Given the description of an element on the screen output the (x, y) to click on. 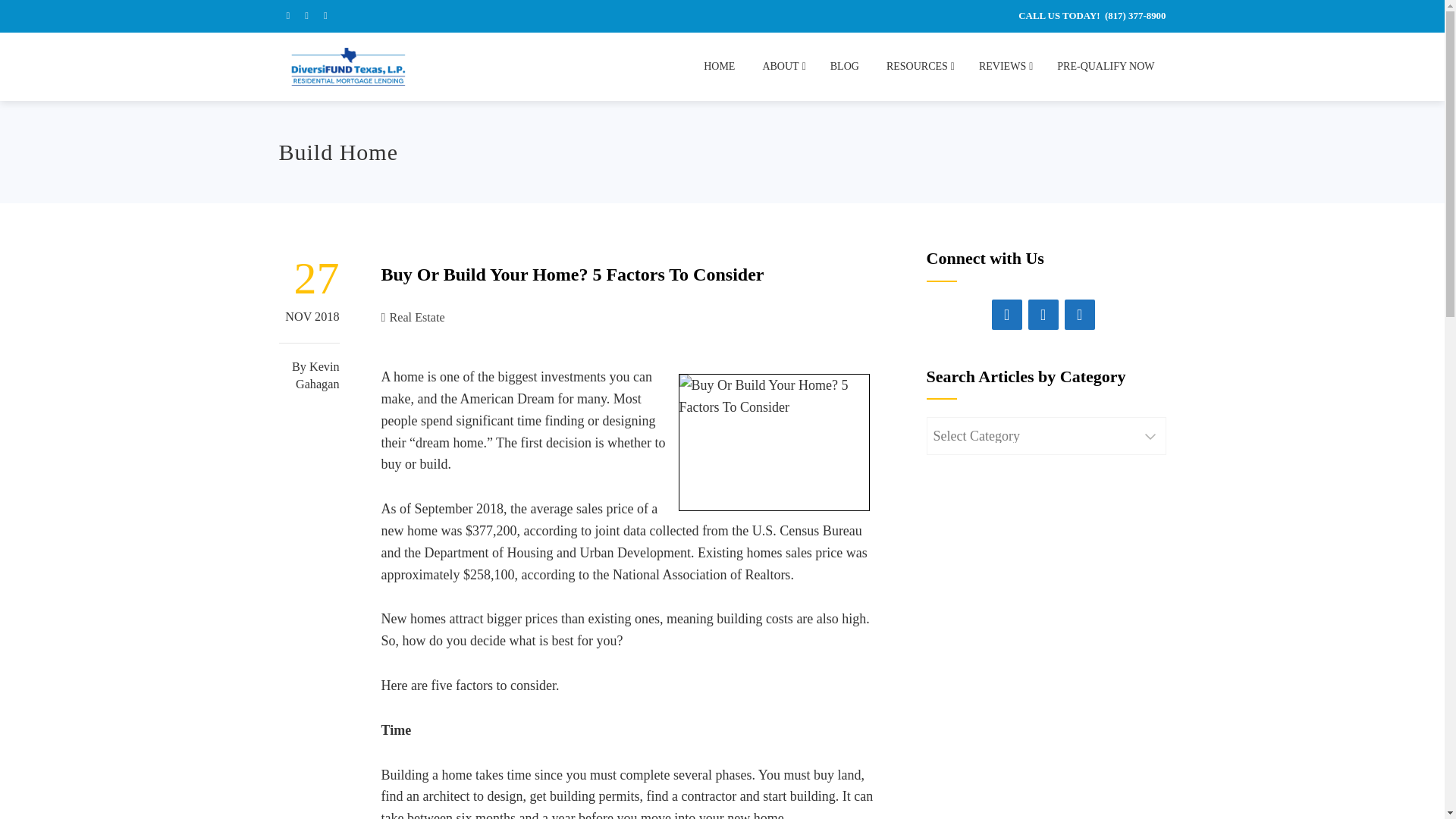
REVIEWS (1004, 66)
ABOUT (782, 66)
PRE-QUALIFY NOW (1105, 66)
RESOURCES (918, 66)
